Given the description of an element on the screen output the (x, y) to click on. 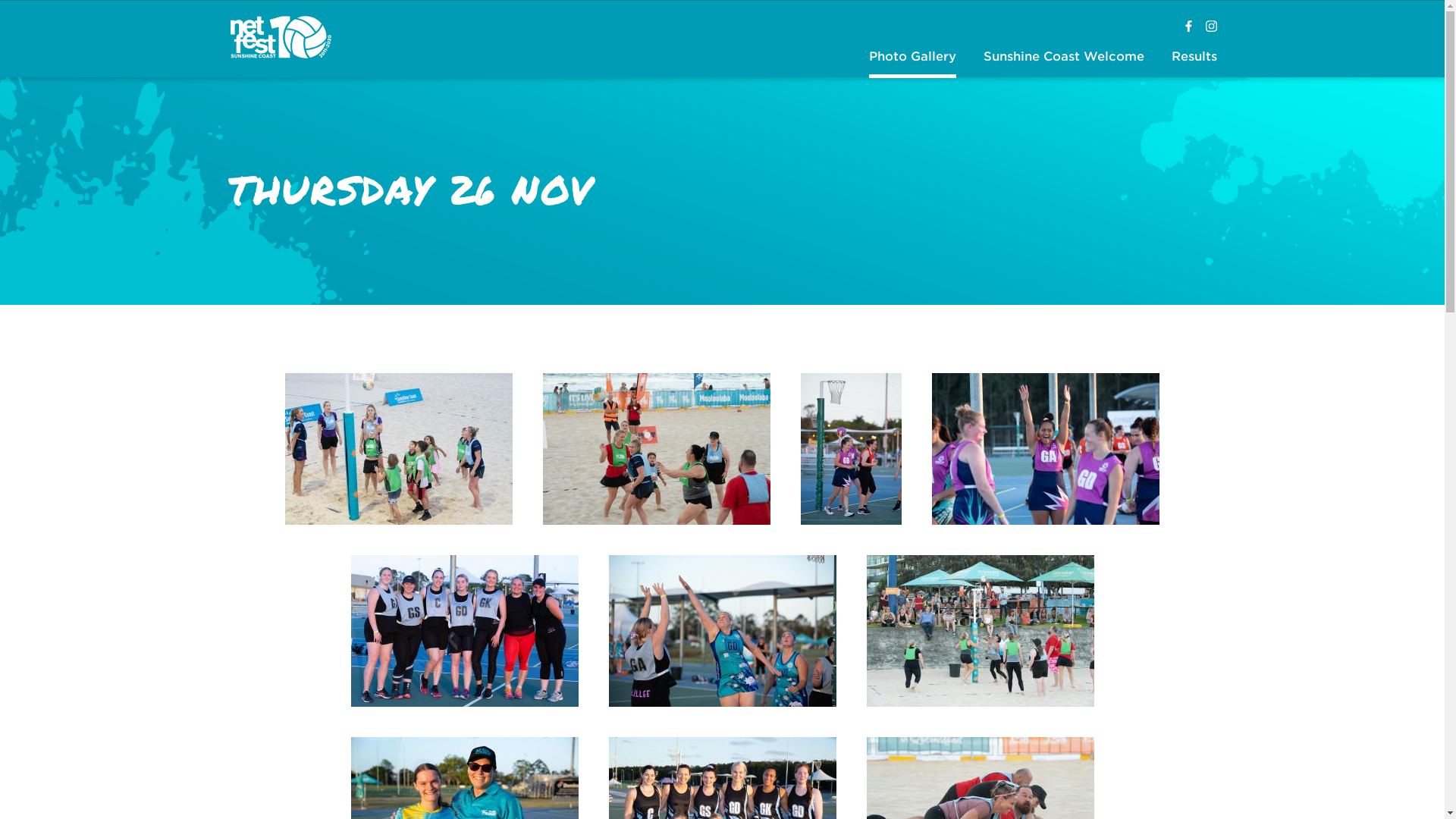
Photo Gallery Element type: text (911, 57)
@netfestau Element type: hover (1211, 26)
@netfestau Element type: hover (1188, 26)
Results Element type: text (1194, 57)
Sunshine Coast Welcome Element type: text (1063, 57)
